Given the description of an element on the screen output the (x, y) to click on. 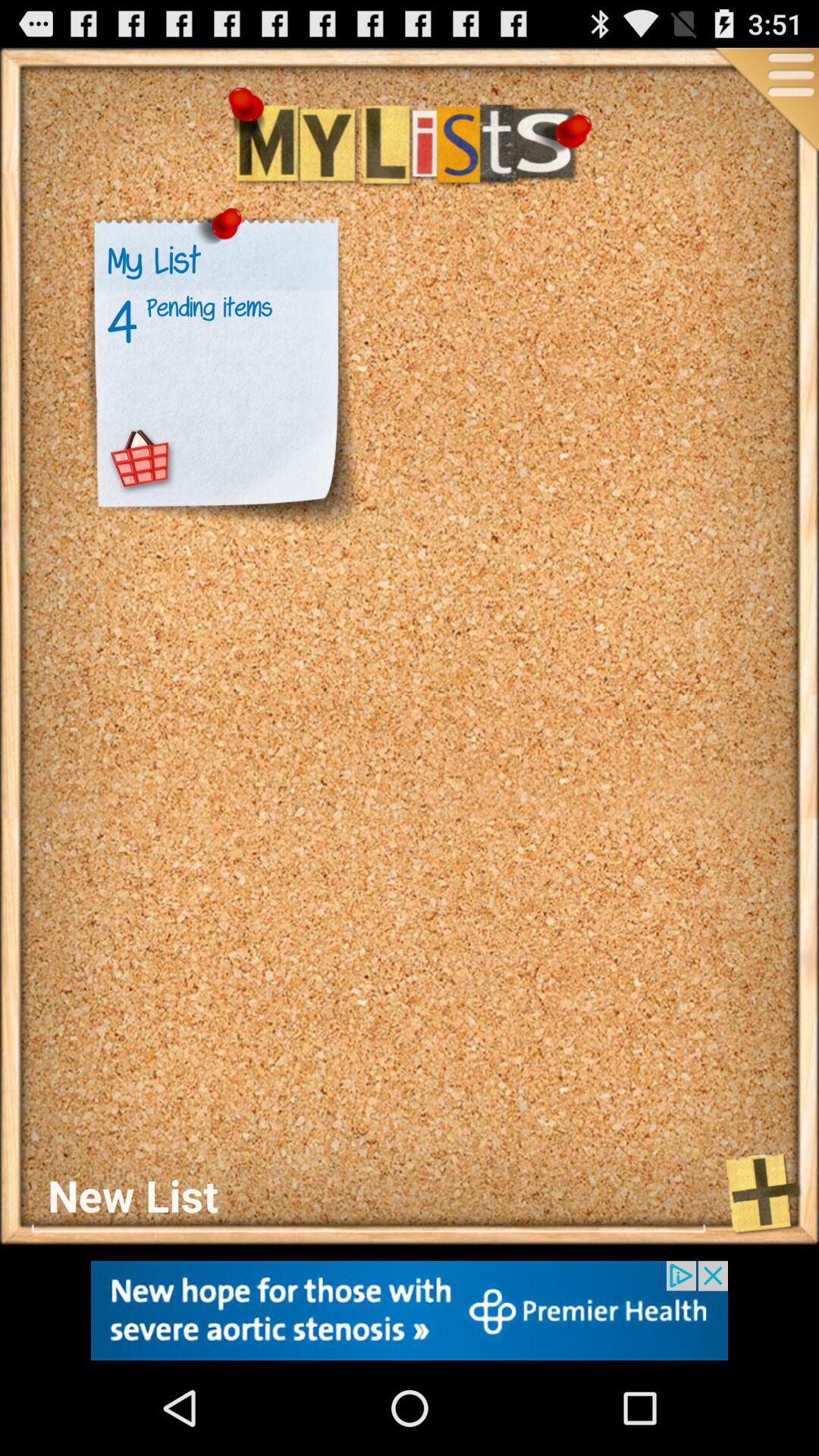
more details (765, 101)
